Given the description of an element on the screen output the (x, y) to click on. 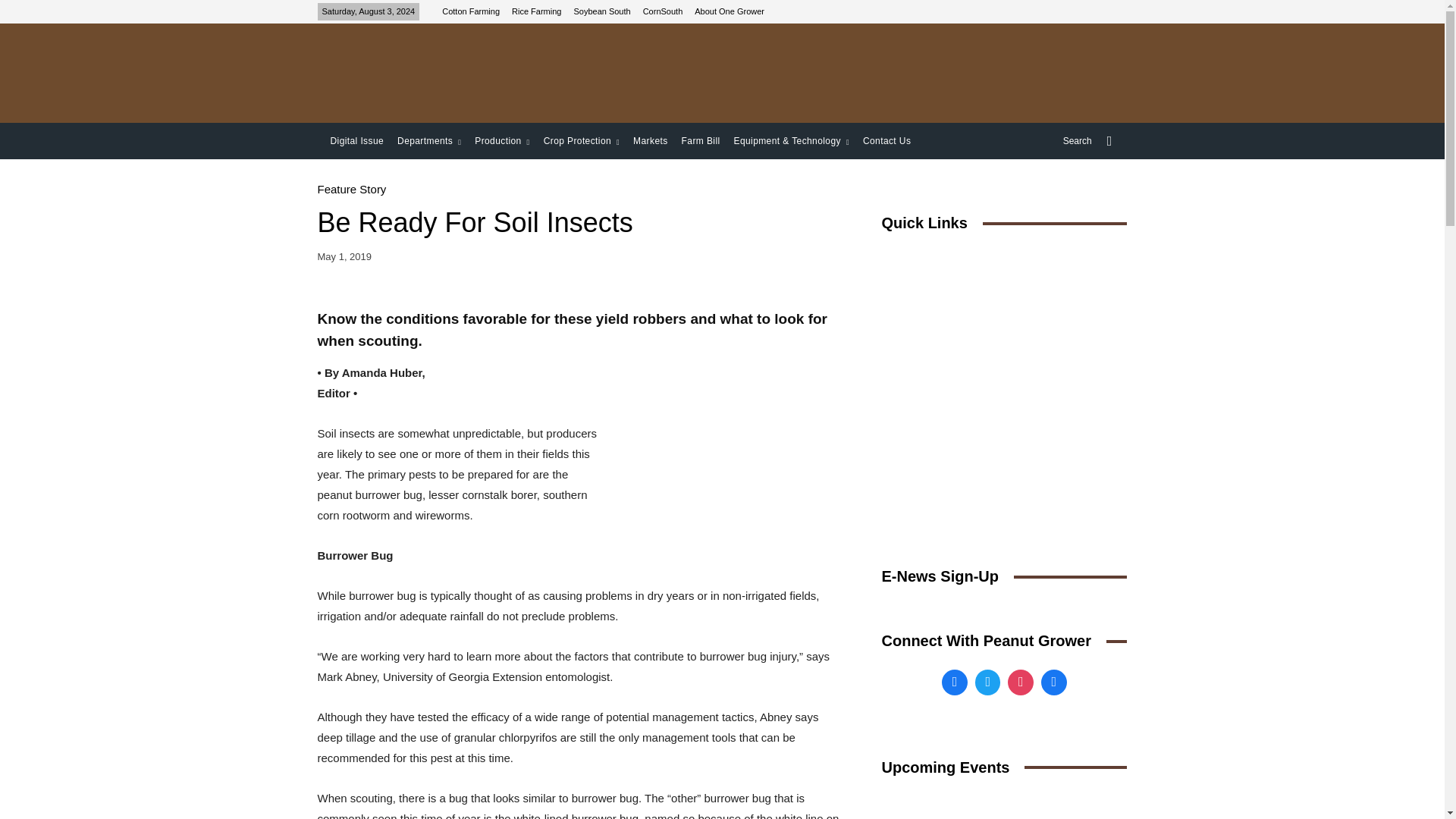
Peanut Grower Header Logo (426, 72)
Cotton Farming (470, 11)
Rice Farming (536, 11)
Twitter square (987, 682)
Soybean South (601, 11)
Facebook square (954, 682)
About One Grower (729, 11)
CornSouth (662, 11)
